Given the description of an element on the screen output the (x, y) to click on. 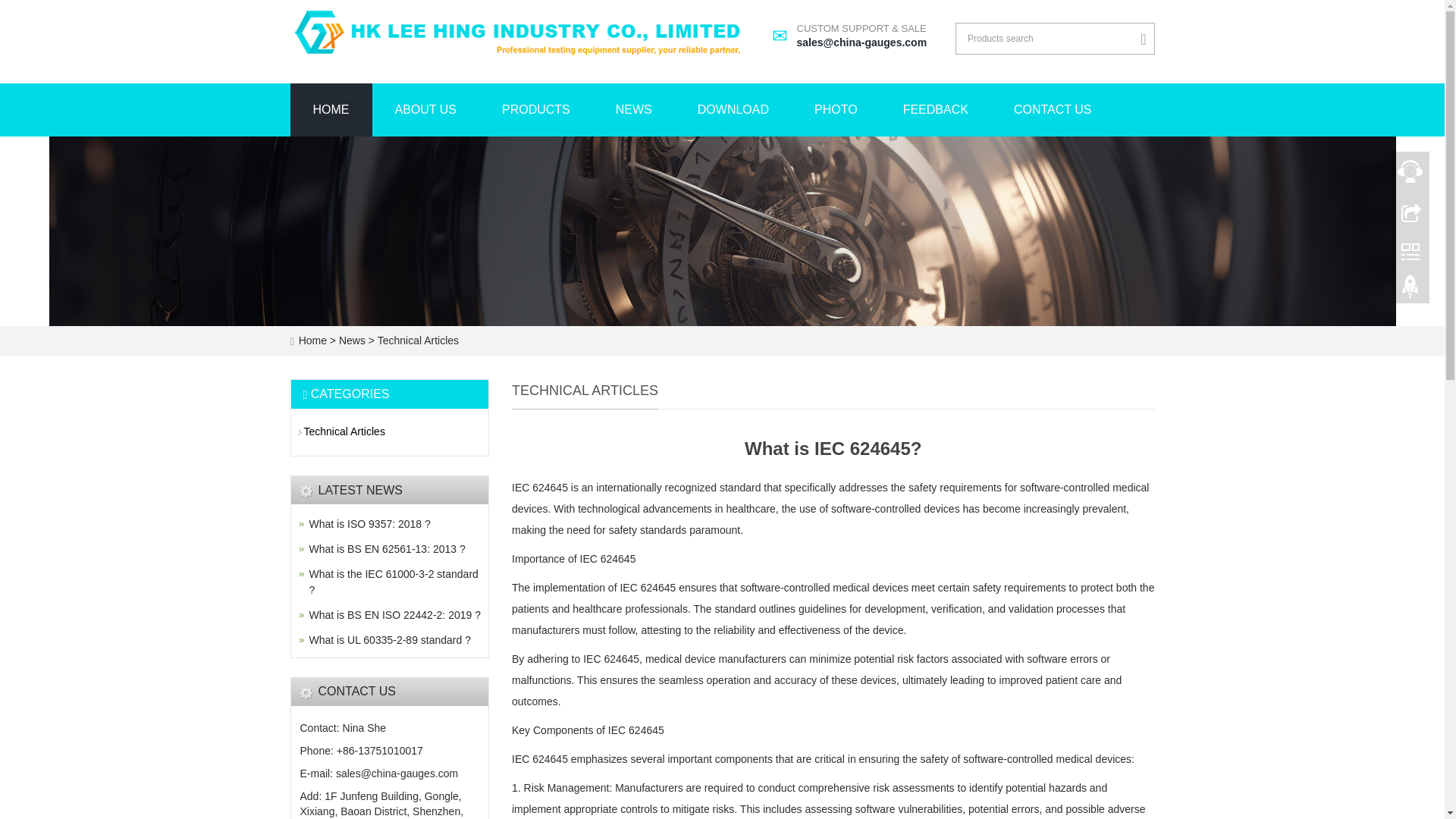
Technical Articles (416, 340)
CONTACT US (394, 614)
News (1053, 109)
HOME (386, 548)
DOWNLOAD (353, 340)
ABOUT US (330, 109)
